Given the description of an element on the screen output the (x, y) to click on. 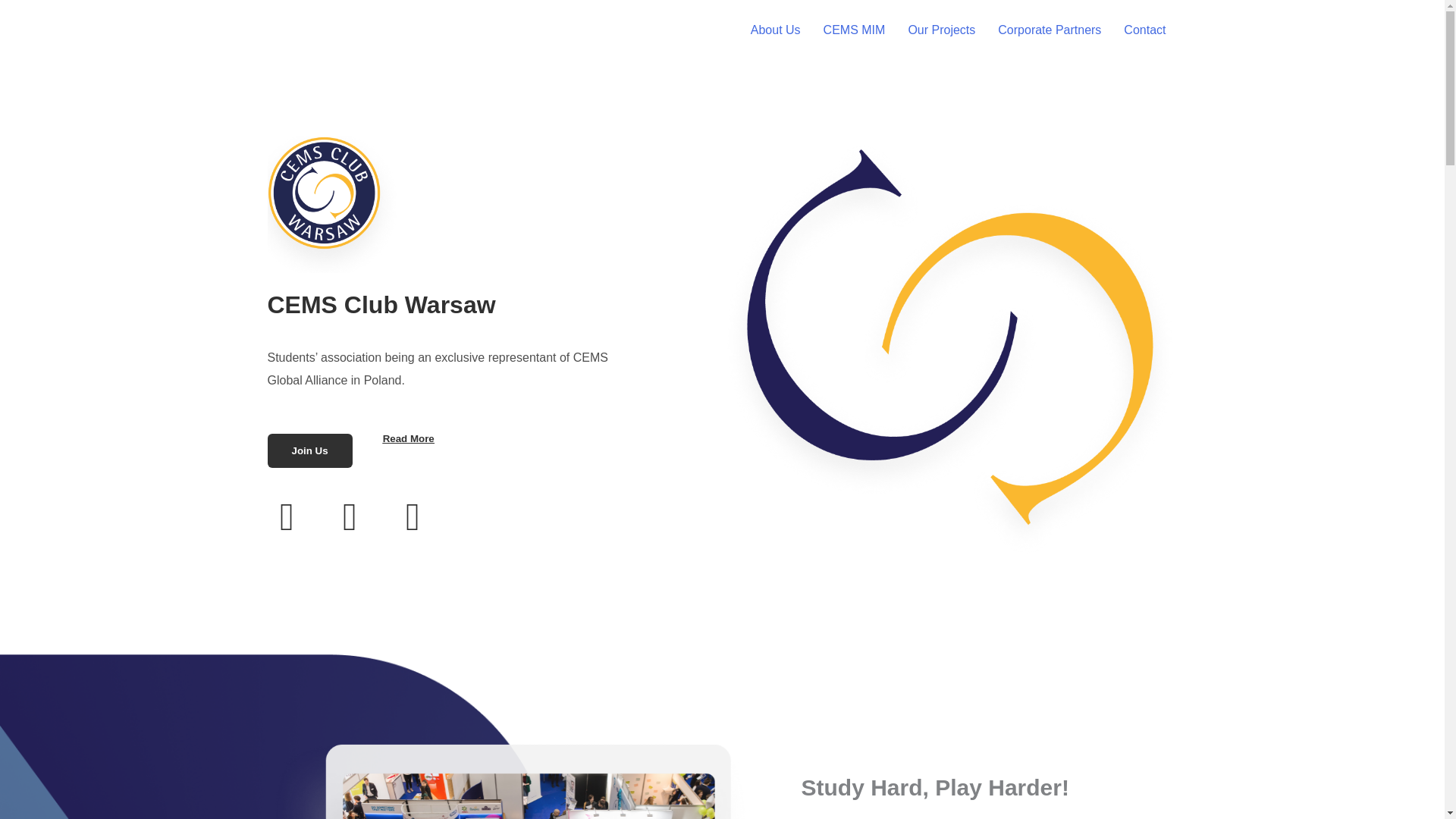
Contact (1144, 30)
About Us (775, 30)
Join Us (309, 450)
Our Projects (941, 30)
Linkedin (411, 517)
Facebook (285, 517)
CEMS MIM (854, 30)
Read More (407, 438)
Corporate Partners (1049, 30)
Instagram (349, 517)
